Given the description of an element on the screen output the (x, y) to click on. 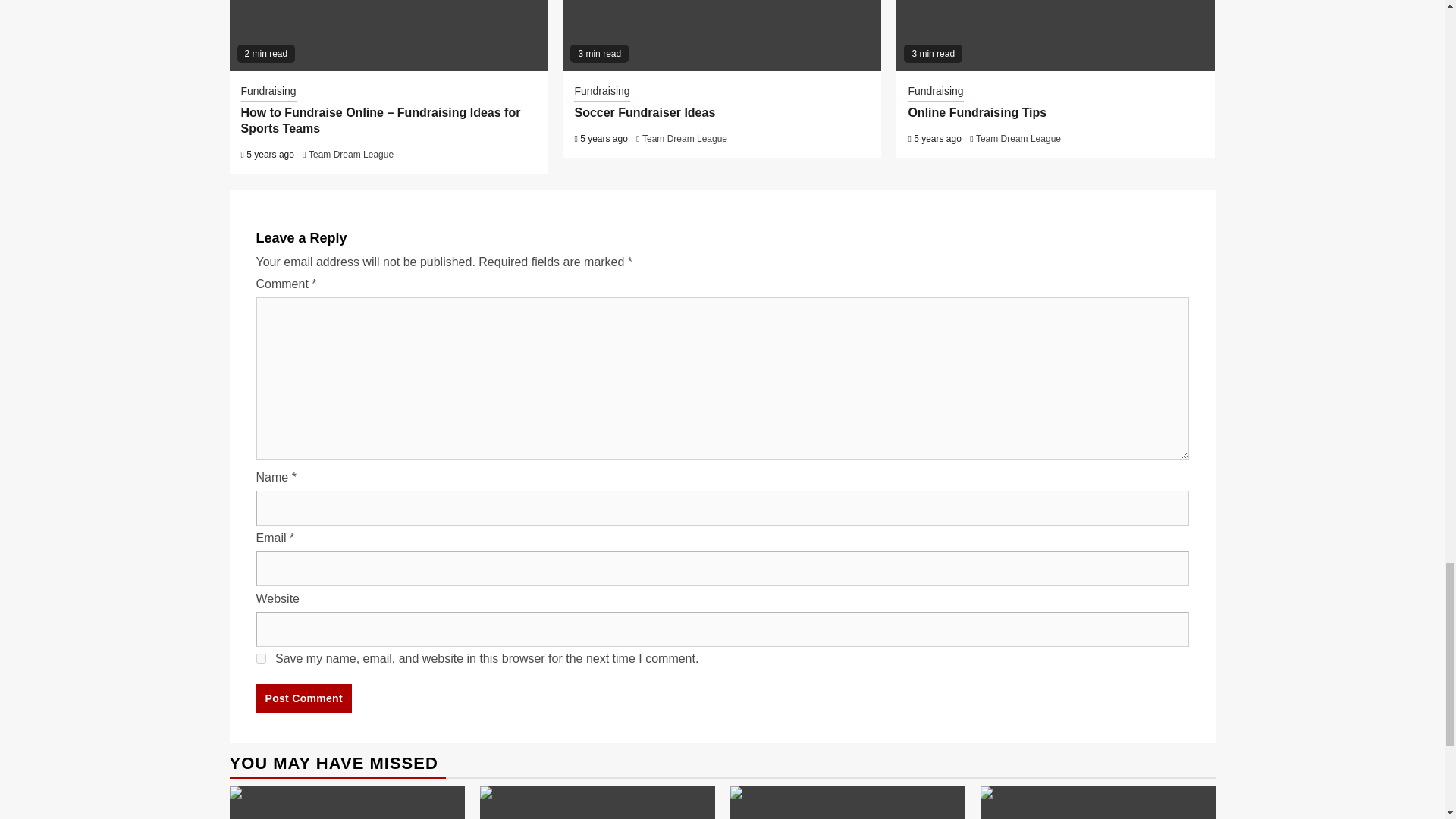
Fundraising (934, 92)
Team Dream League (1018, 138)
Team Dream League (350, 154)
Team Dream League (684, 138)
Post Comment (304, 697)
Fundraising (600, 92)
Post Comment (304, 697)
Online Fundraising Tips  (978, 112)
Soccer Fundraiser Ideas (643, 112)
Fundraising (269, 92)
